Given the description of an element on the screen output the (x, y) to click on. 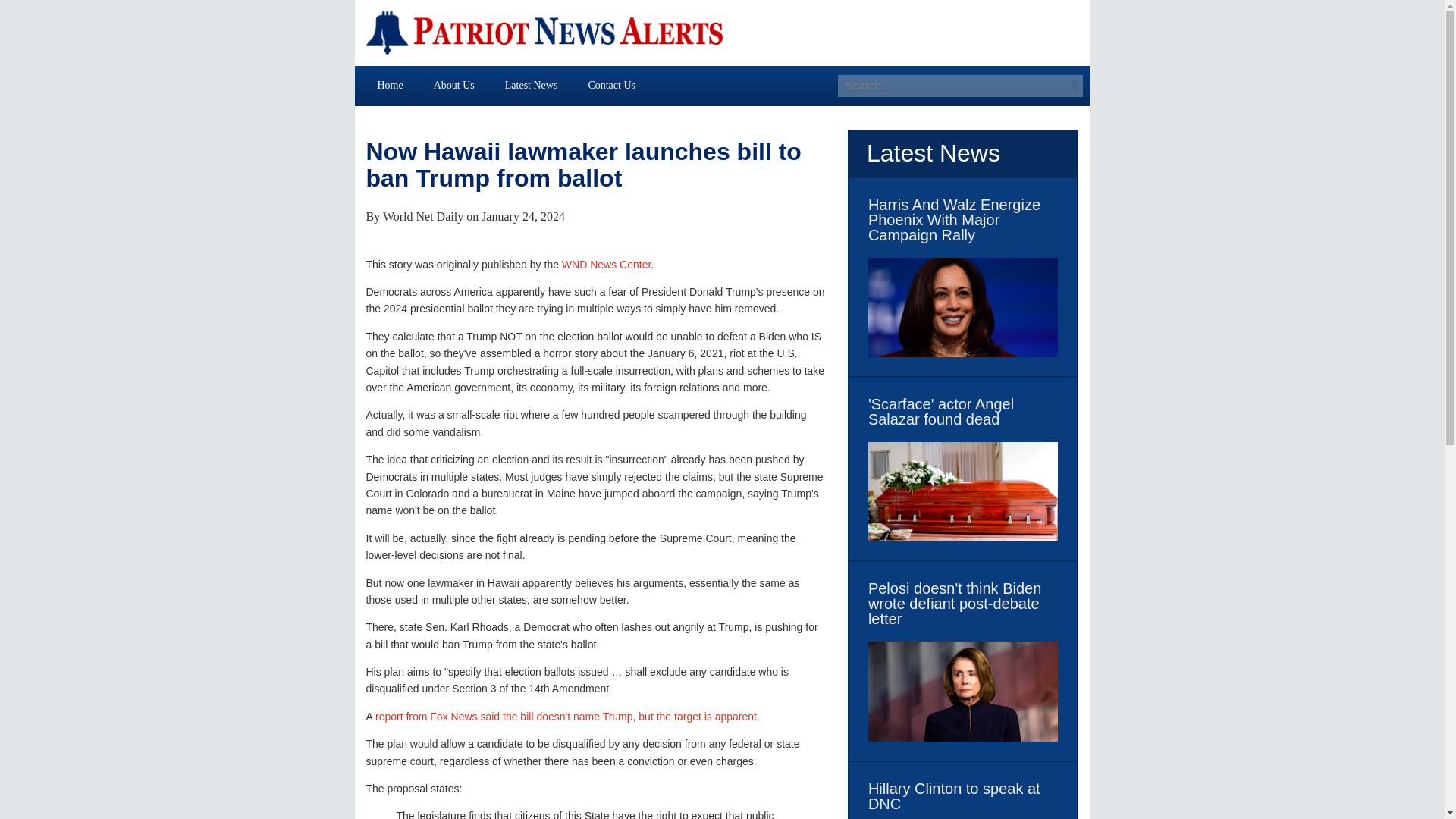
World Net Daily (422, 215)
WND News Center (606, 264)
'Scarface' actor Angel Salazar found dead (962, 411)
About Us (454, 85)
Latest News (531, 85)
Home (390, 85)
Hillary Clinton to speak at DNC (962, 796)
Pelosi doesn't think Biden wrote defiant post-debate letter (962, 603)
Search for: (952, 86)
